Given the description of an element on the screen output the (x, y) to click on. 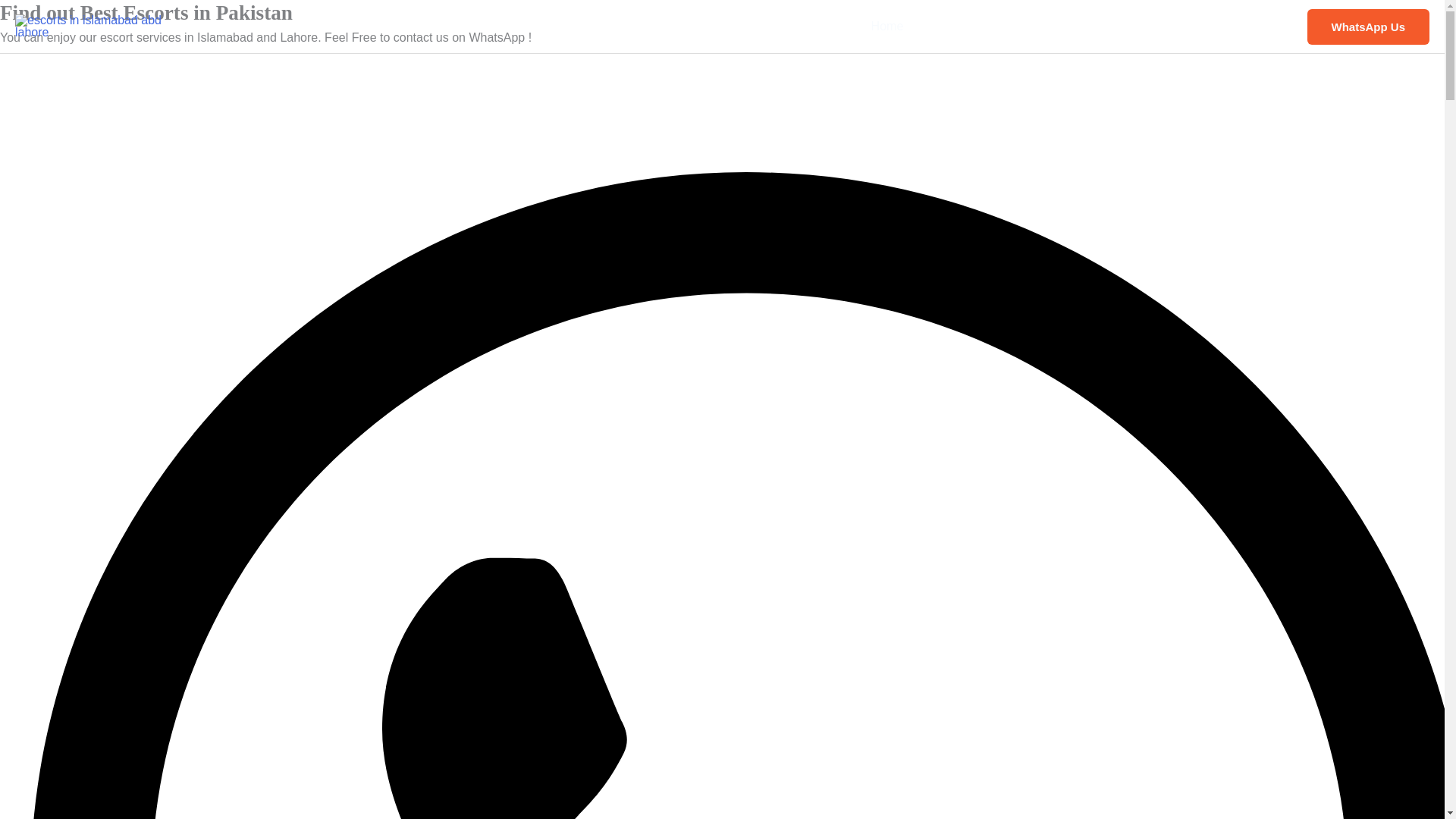
Escorts in Islamabad (983, 26)
WhatsApp Us (1368, 27)
Blogs (1197, 26)
Home (887, 26)
Escorts in Lahore (1112, 26)
Contact (1258, 26)
